Given the description of an element on the screen output the (x, y) to click on. 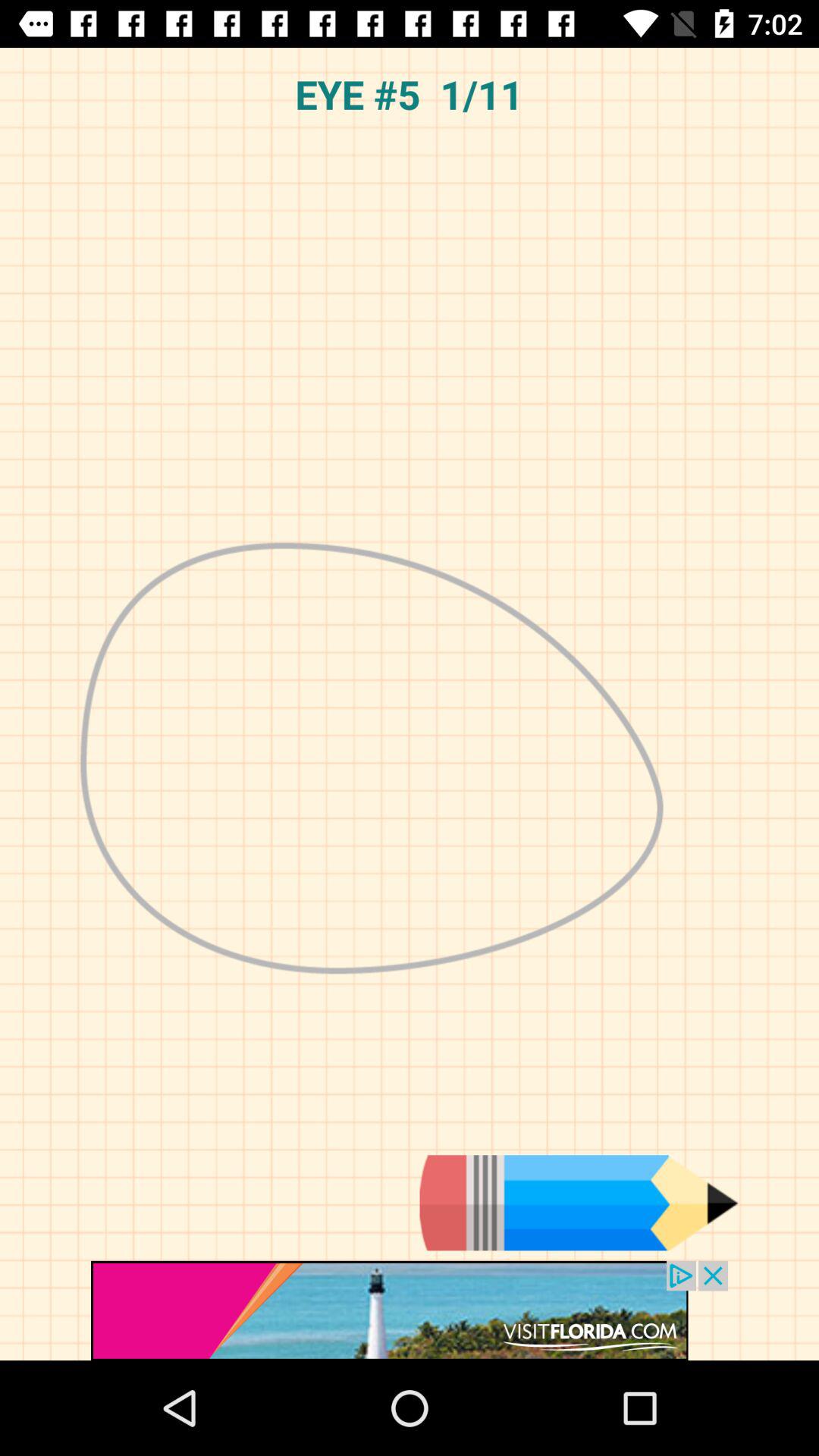
entreating (578, 1202)
